Given the description of an element on the screen output the (x, y) to click on. 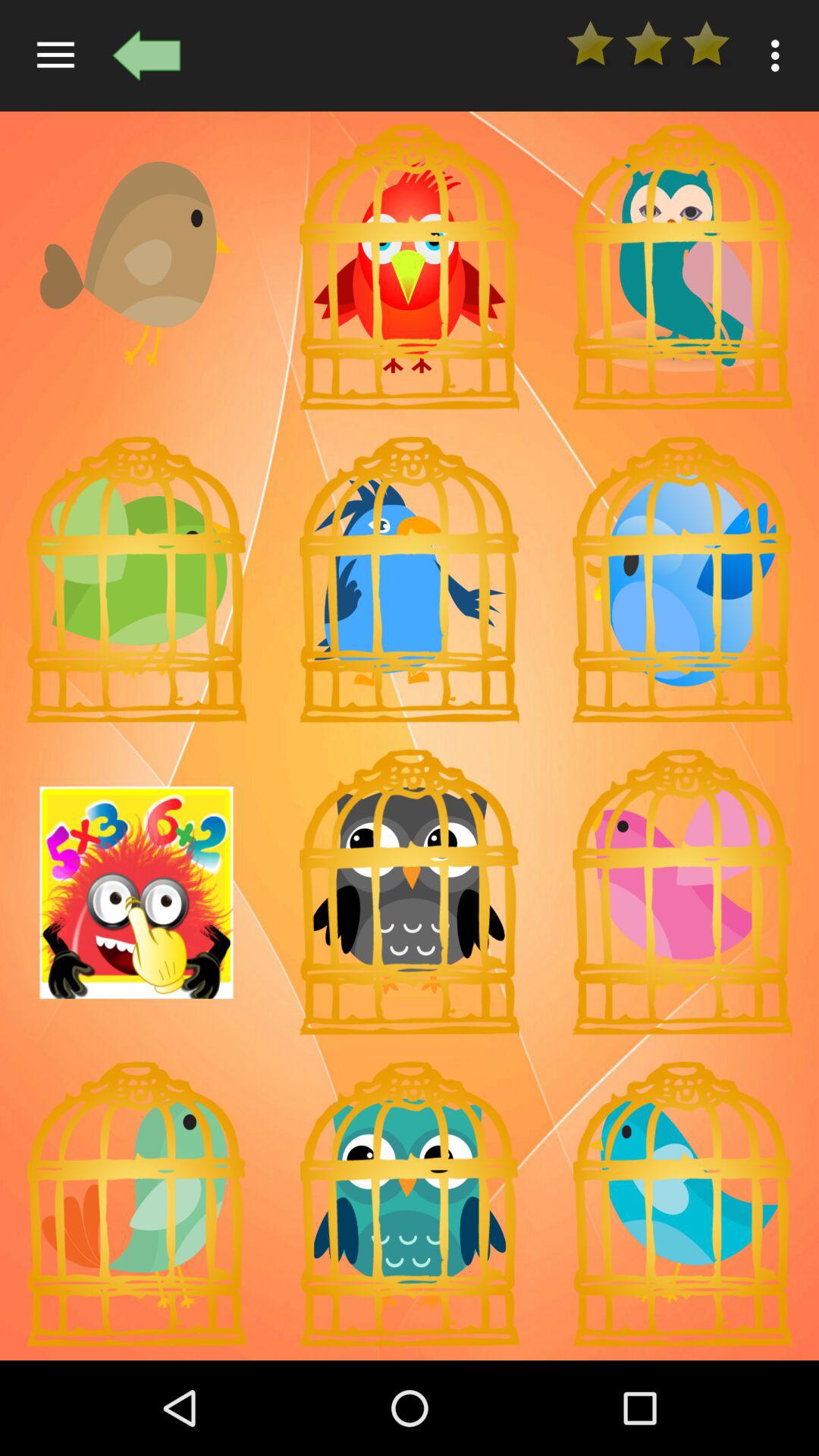
select the picture (136, 579)
